Given the description of an element on the screen output the (x, y) to click on. 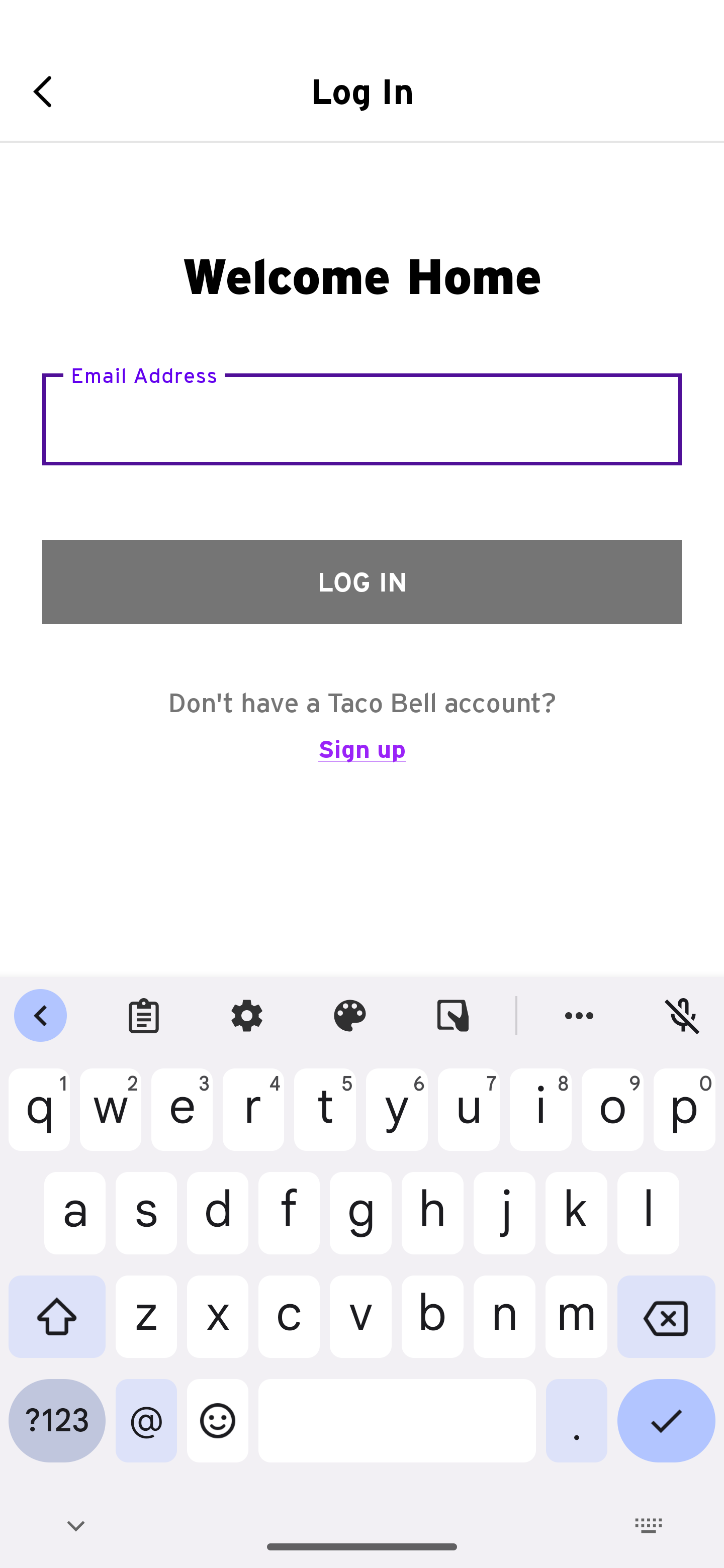
Navigate up (49, 91)
Email Address (361, 419)
LOG IN (361, 581)
Sign up (361, 757)
